Given the description of an element on the screen output the (x, y) to click on. 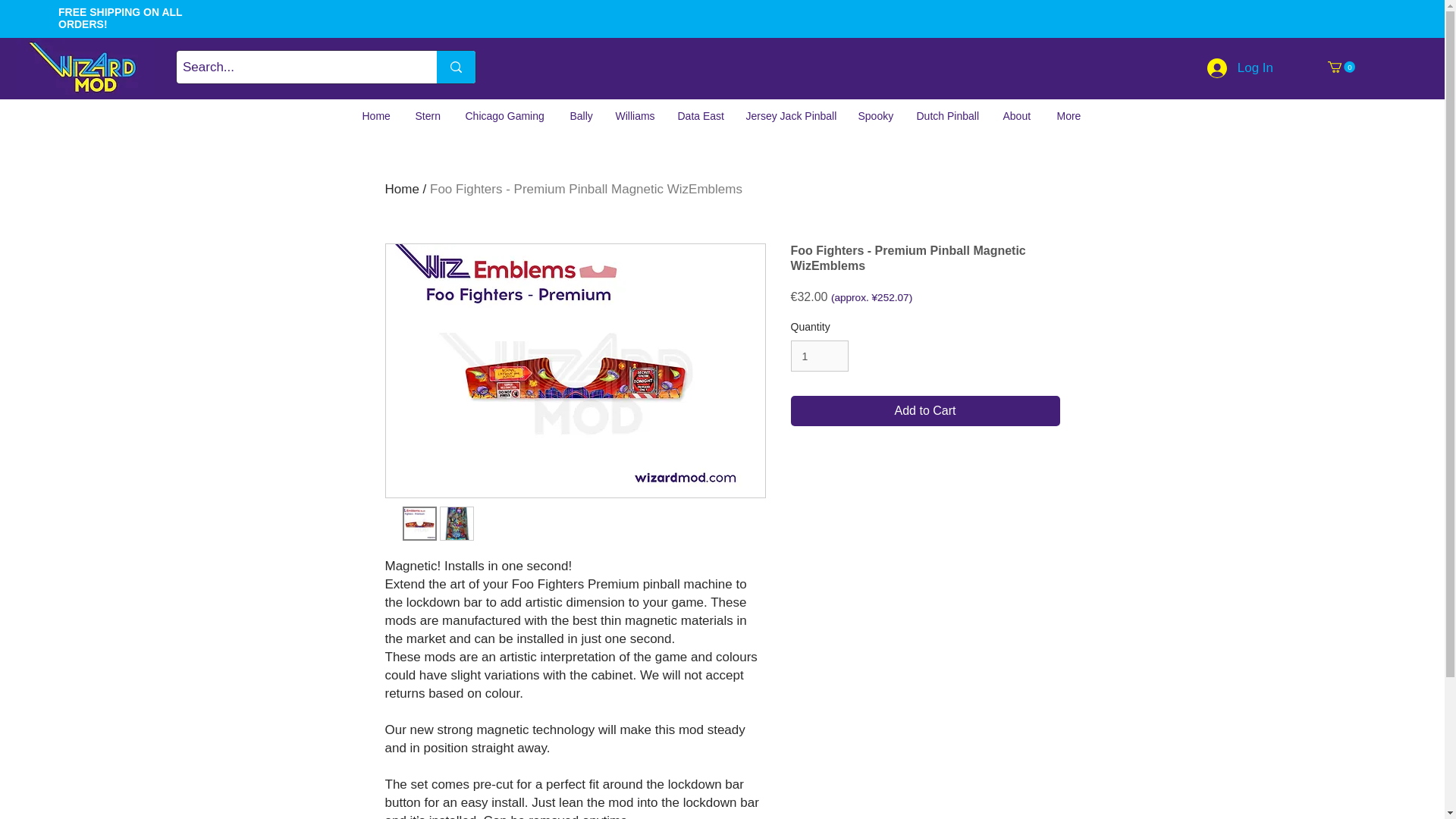
0 (1341, 66)
Stern (427, 116)
0 (1341, 66)
1 (818, 355)
Log In (1240, 68)
Home (376, 116)
